Given the description of an element on the screen output the (x, y) to click on. 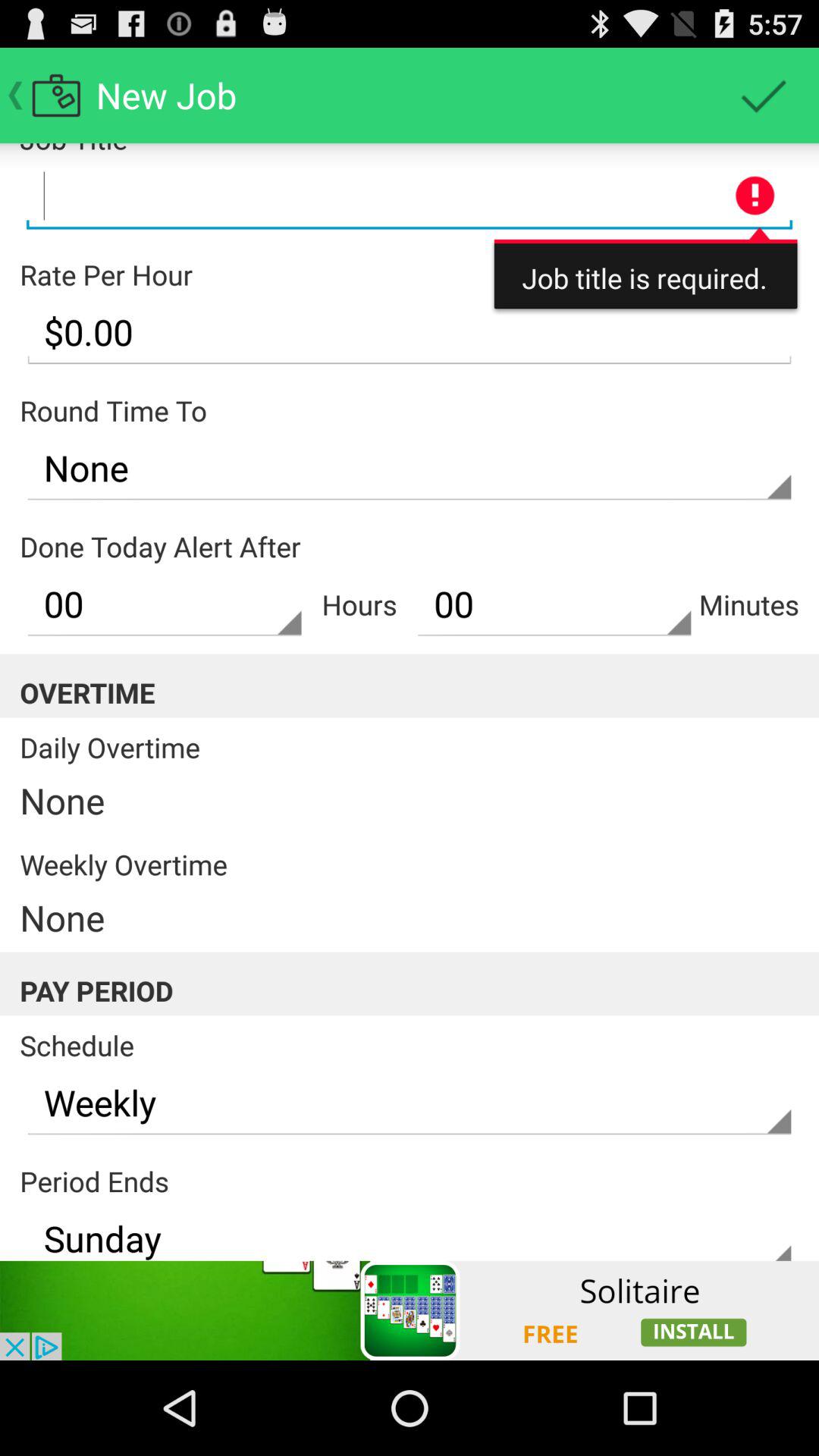
visit advertisement (409, 1310)
